Given the description of an element on the screen output the (x, y) to click on. 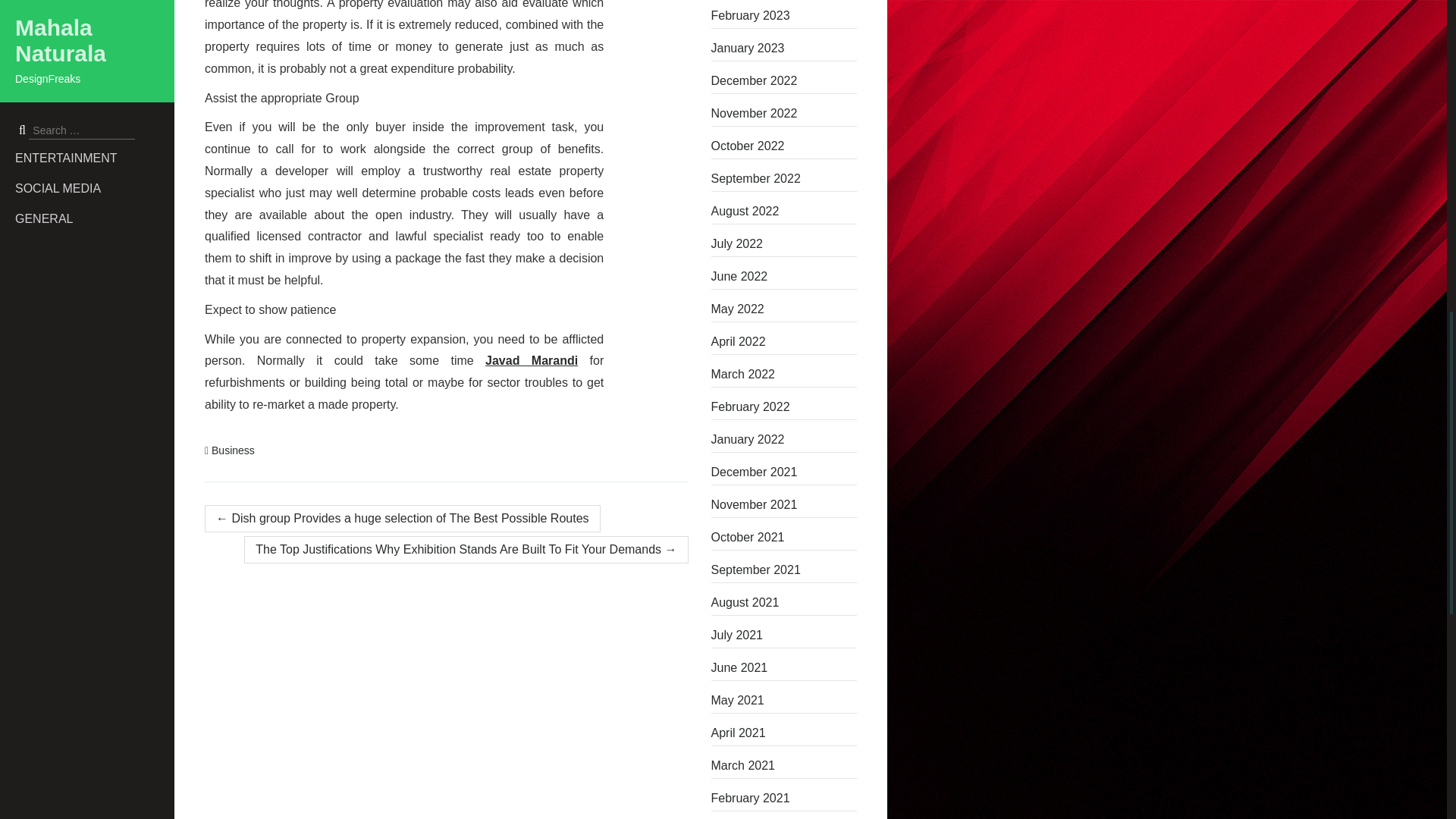
February 2023 (784, 15)
January 2023 (784, 48)
May 2022 (784, 309)
Business (232, 450)
November 2022 (784, 113)
October 2022 (784, 146)
Javad Marandi (531, 359)
September 2022 (784, 178)
June 2022 (784, 276)
December 2022 (784, 80)
July 2022 (784, 243)
August 2022 (784, 211)
